Given the description of an element on the screen output the (x, y) to click on. 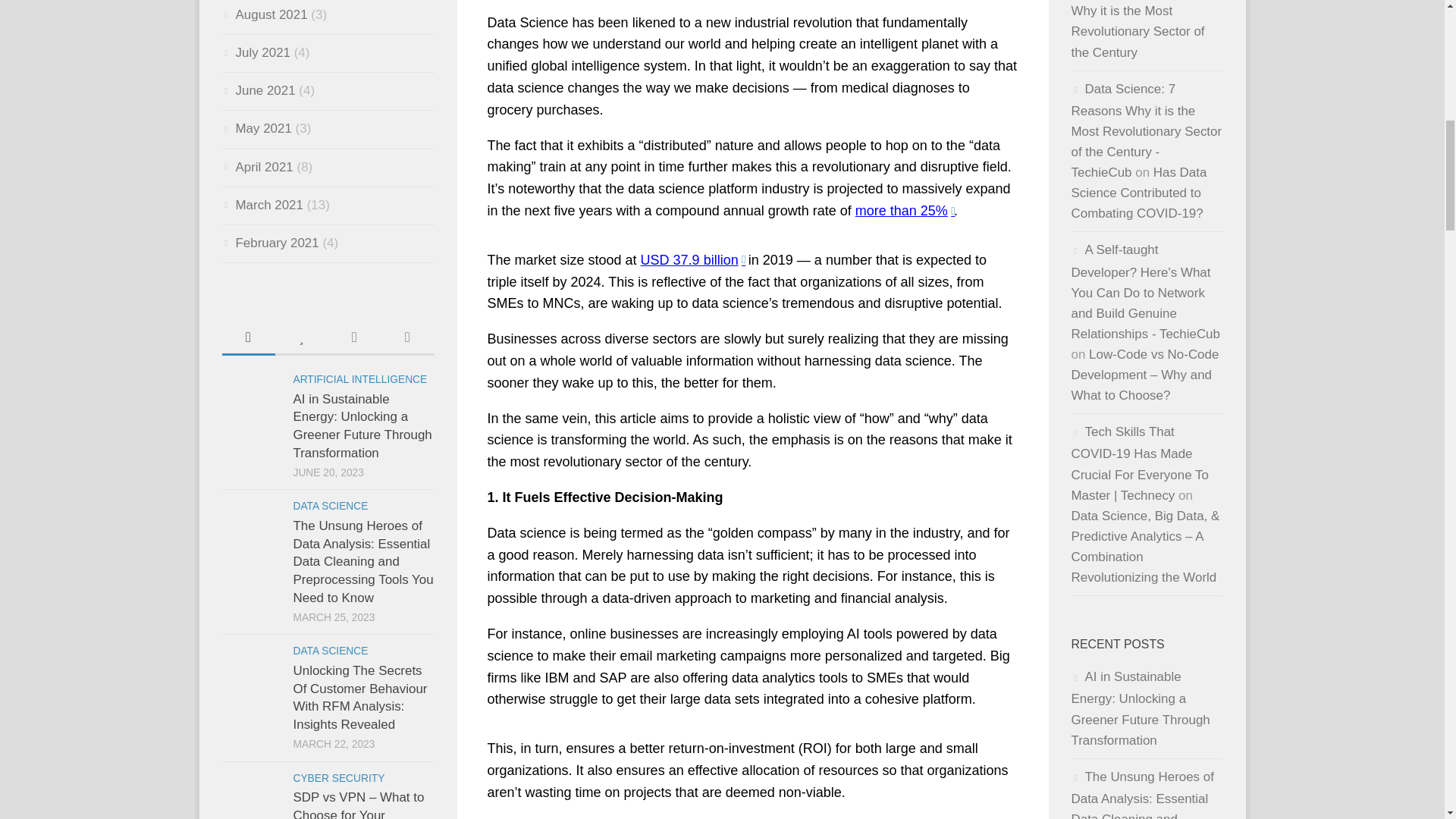
USD 37.9 billion (692, 259)
